Given the description of an element on the screen output the (x, y) to click on. 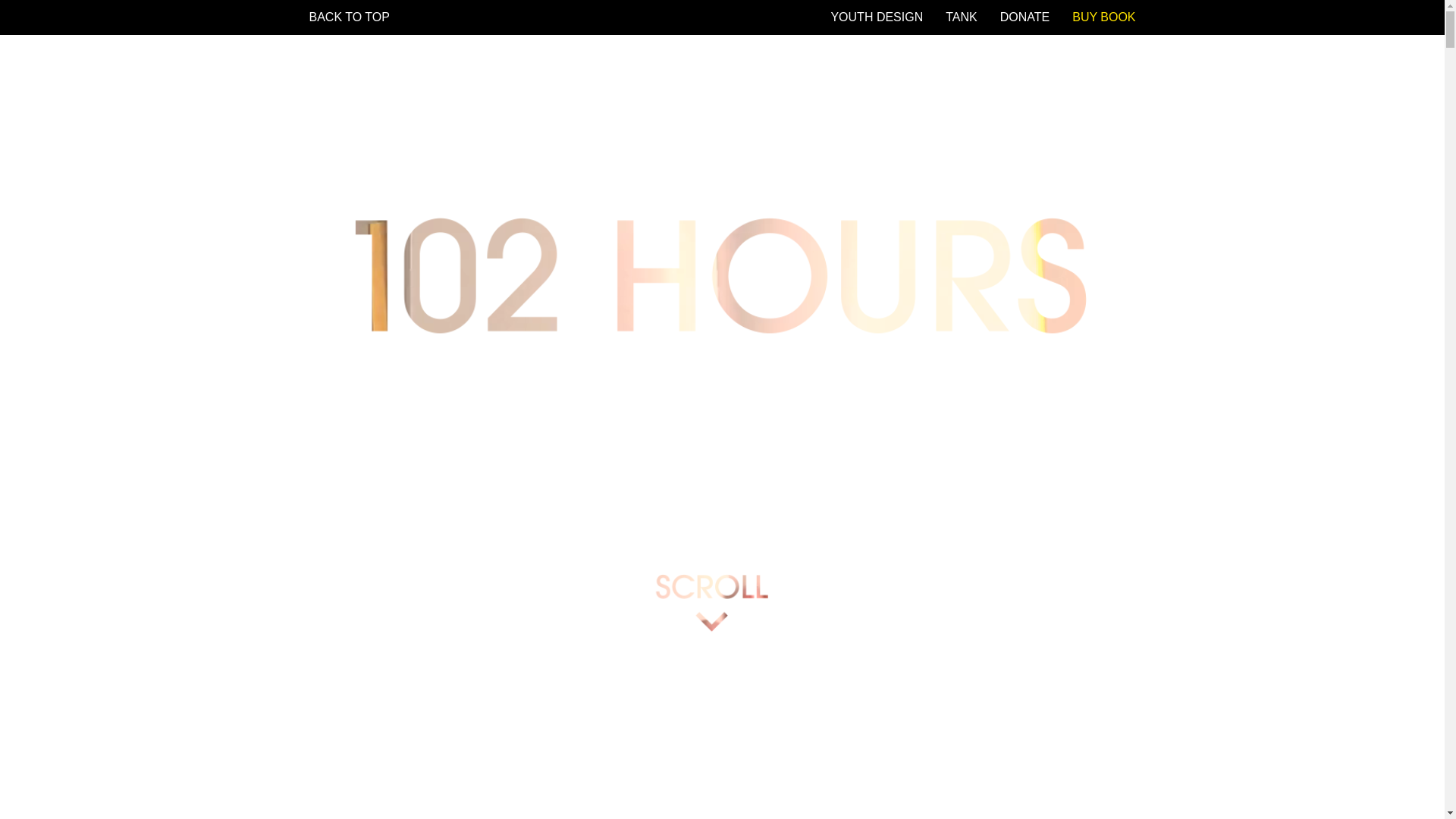
BUY BOOK Element type: text (1103, 17)
BACK TO TOP Element type: text (348, 17)
DONATE Element type: text (1024, 17)
YOUTH DESIGN Element type: text (876, 17)
TANK Element type: text (961, 17)
